Given the description of an element on the screen output the (x, y) to click on. 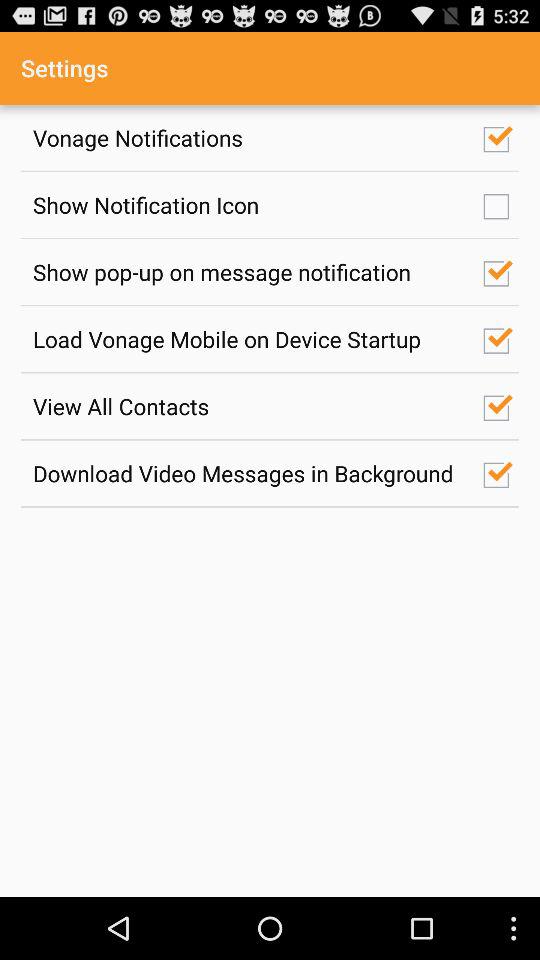
jump until load vonage mobile icon (247, 338)
